Given the description of an element on the screen output the (x, y) to click on. 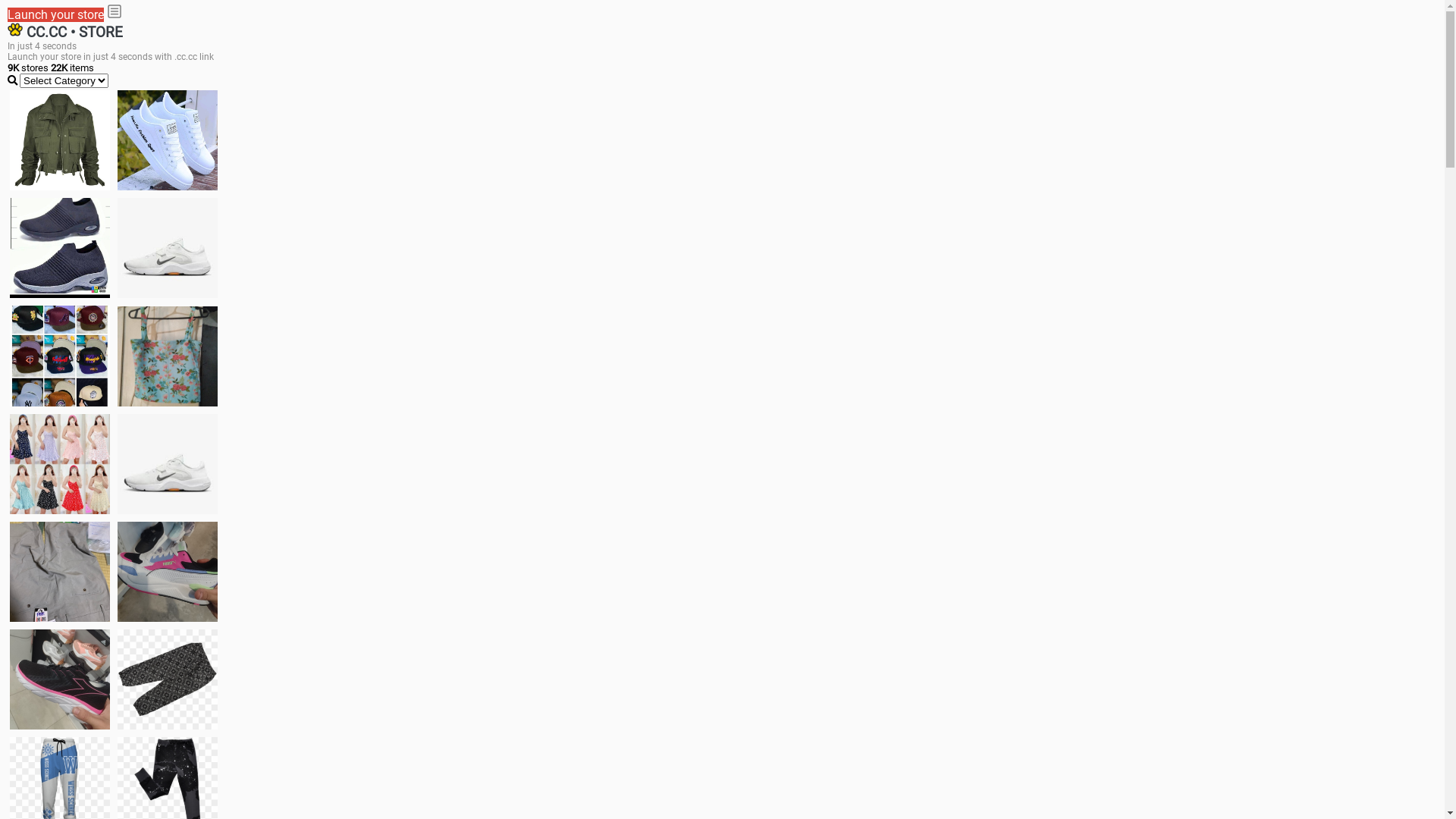
Ukay cloth Element type: hover (167, 356)
Short pant Element type: hover (167, 679)
Shoes Element type: hover (167, 464)
shoes for boys Element type: hover (59, 247)
white shoes Element type: hover (167, 140)
Zapatillas Element type: hover (59, 679)
Shoes for boys Element type: hover (167, 247)
Things we need Element type: hover (59, 355)
jacket Element type: hover (59, 140)
Dress/square nect top Element type: hover (59, 464)
Zapatillas pumas Element type: hover (167, 571)
Launch your store Element type: text (55, 14)
